Given the description of an element on the screen output the (x, y) to click on. 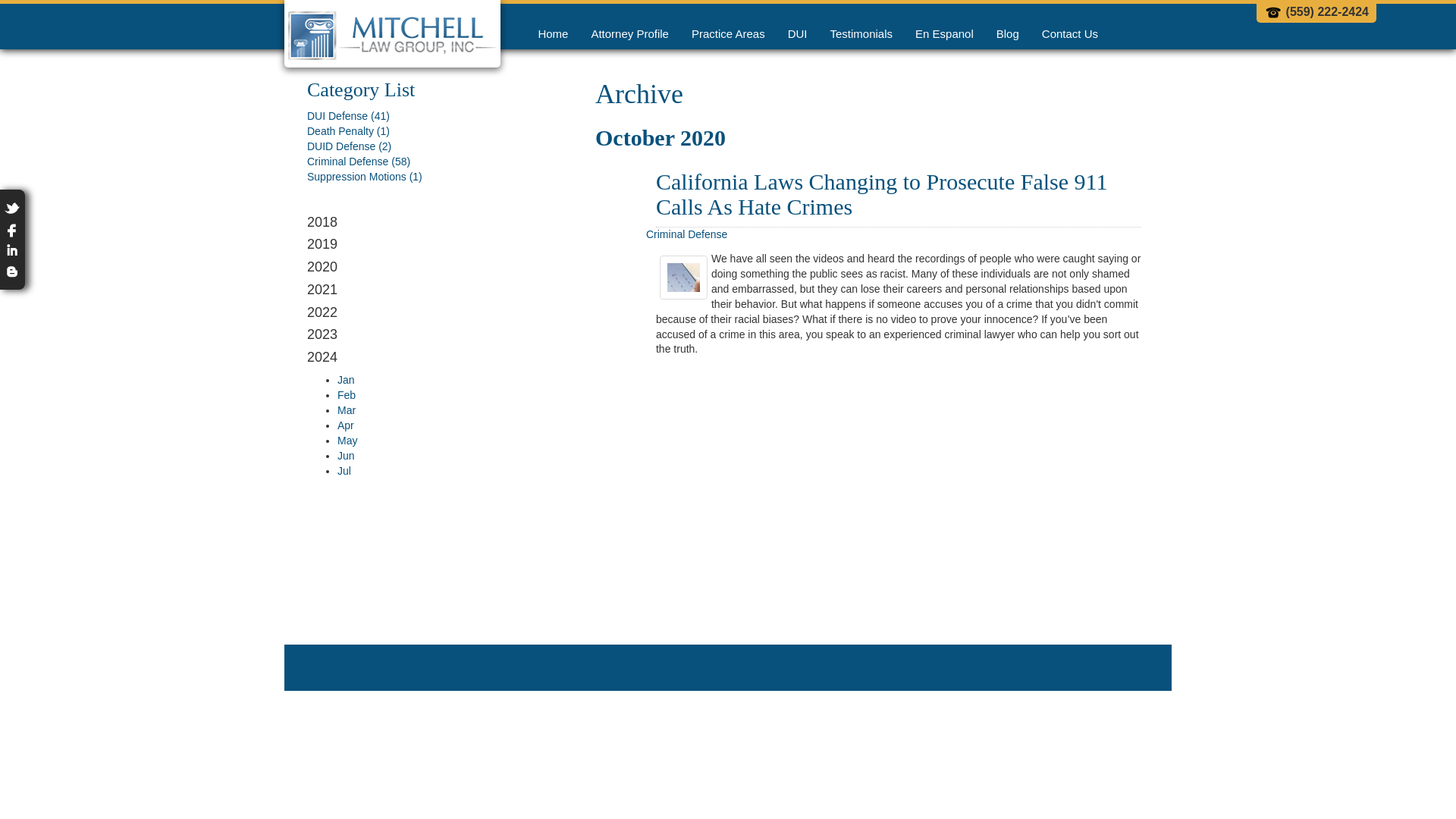
DUI (797, 33)
Home (552, 33)
Attorney Profile (629, 33)
Practice Areas (727, 33)
